Given the description of an element on the screen output the (x, y) to click on. 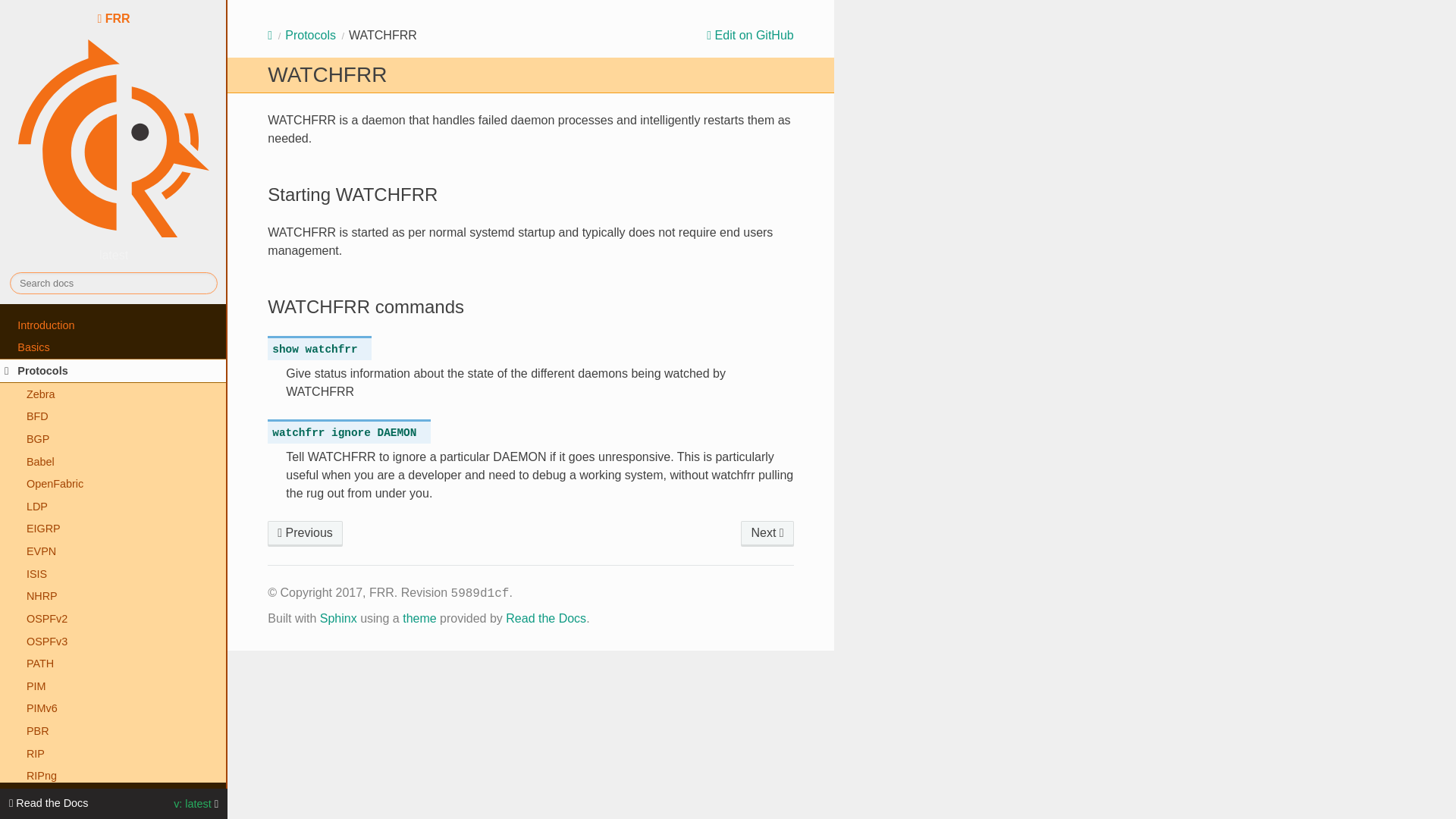
BMP (304, 533)
OpenFabric (113, 483)
OSPFv2 (113, 618)
Babel (113, 461)
RIPng (113, 775)
EIGRP (113, 528)
Zebra (113, 394)
Protocols (310, 34)
ISIS (113, 573)
BFD (113, 416)
